Given the description of an element on the screen output the (x, y) to click on. 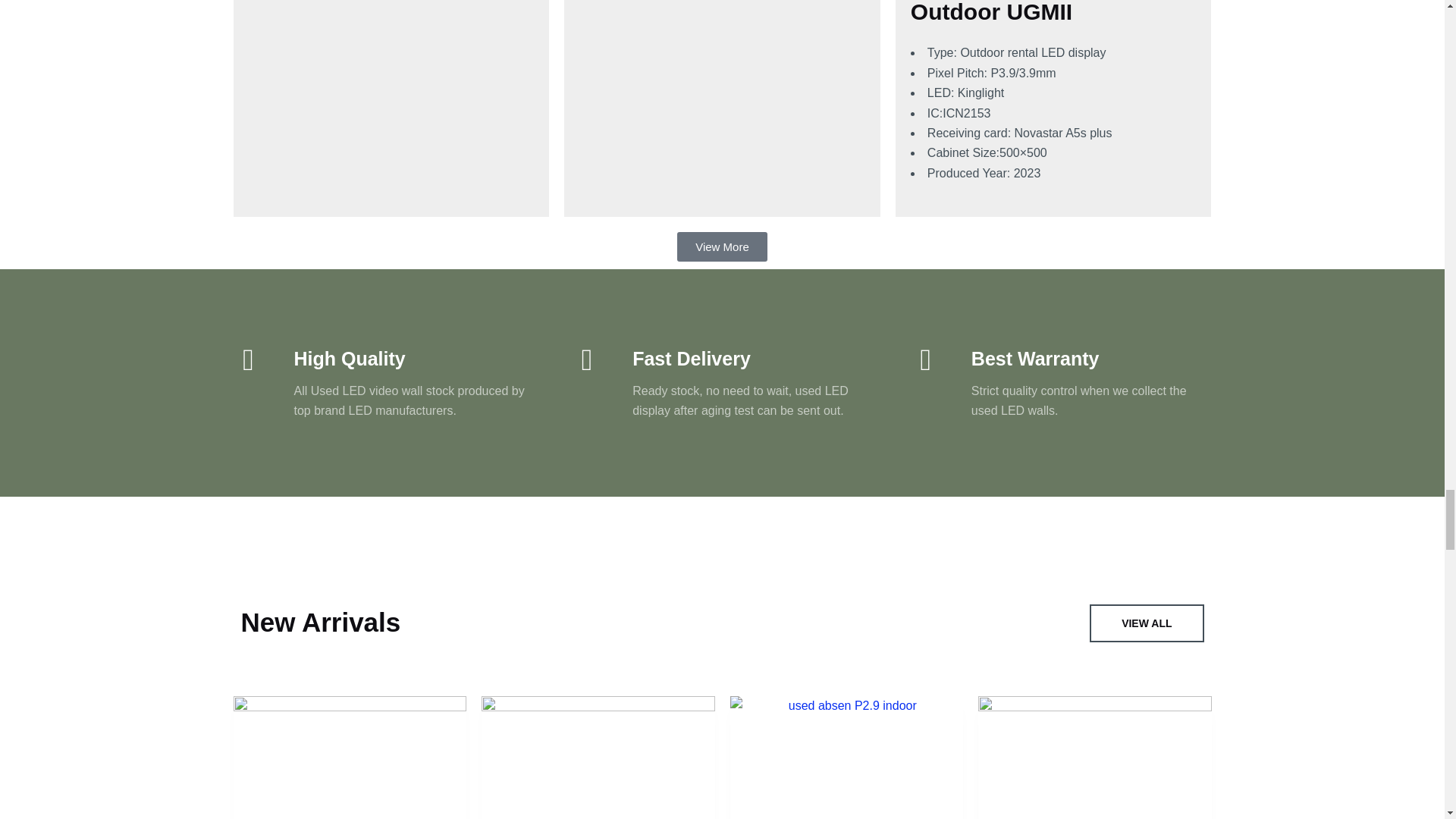
absen29indoor2312276 (1094, 757)
absen29indoor2312271 (597, 757)
unilumin39outdoor2401241 (349, 757)
Used absen P2.9 indoor (845, 757)
